Given the description of an element on the screen output the (x, y) to click on. 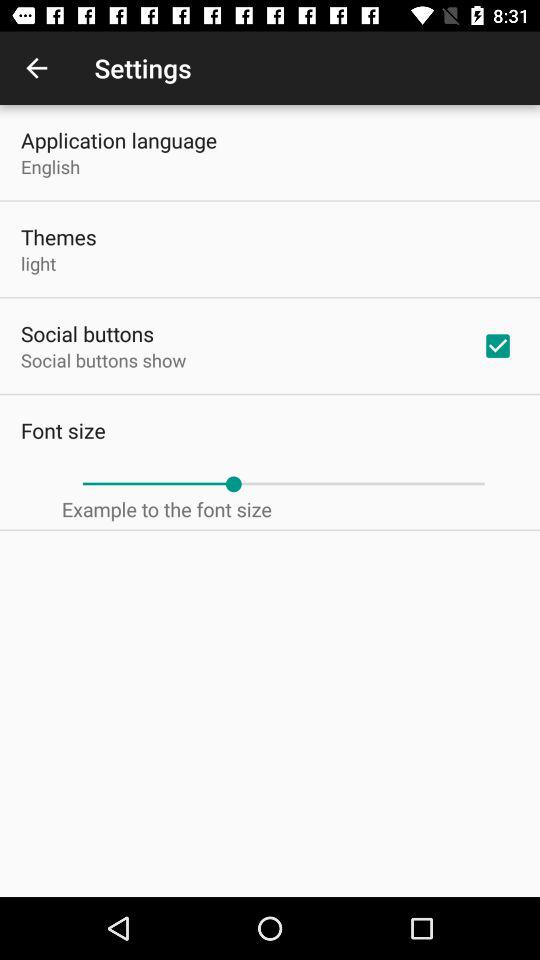
turn on the item next to the settings icon (36, 68)
